Given the description of an element on the screen output the (x, y) to click on. 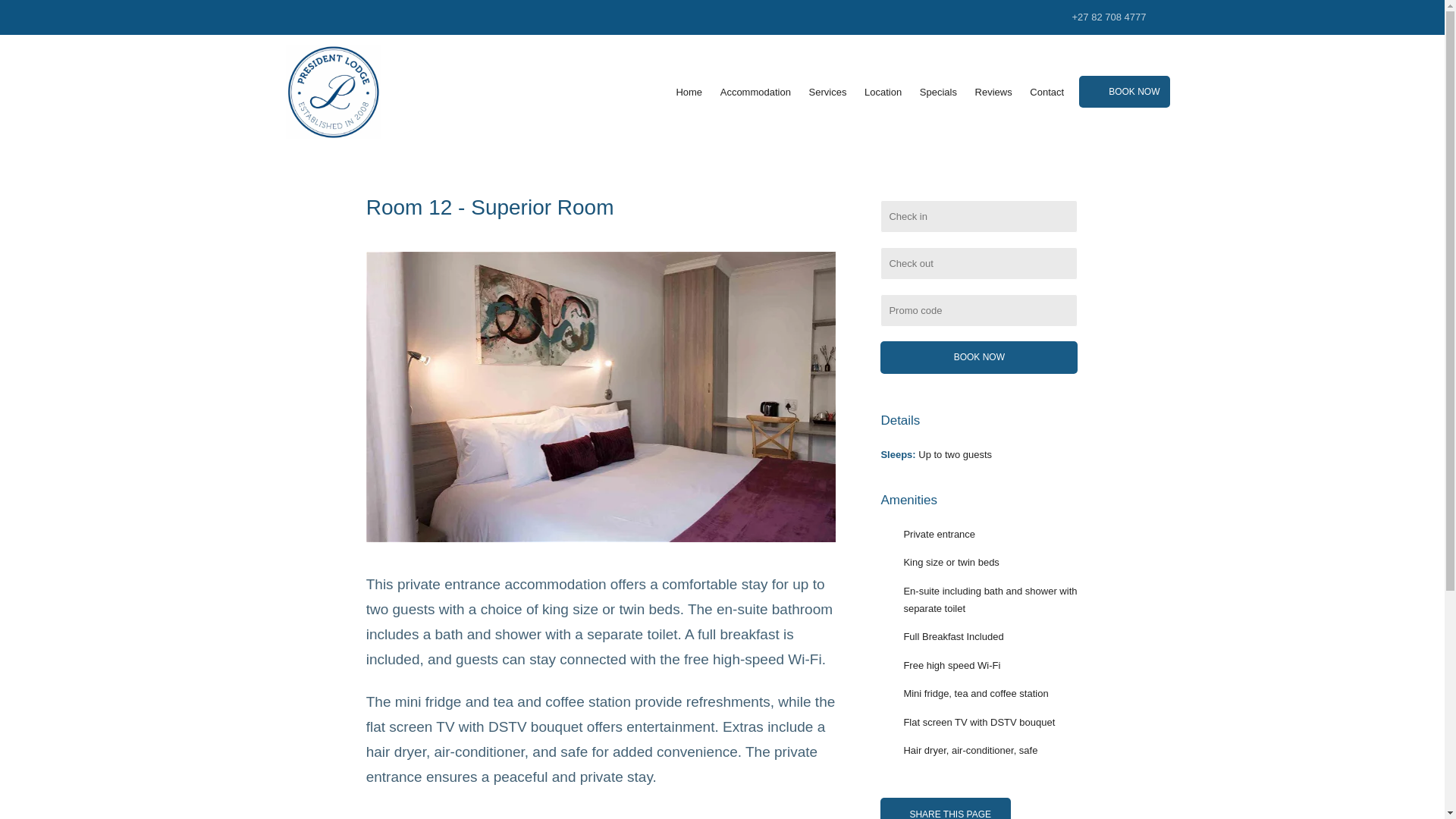
Location (882, 91)
Reviews (994, 91)
Accommodation (755, 91)
President Lodge (332, 91)
Book Now (978, 357)
Contact (1046, 91)
Home (689, 91)
Specials (937, 91)
SHARE THIS PAGE (945, 808)
Book Now (978, 357)
Services (828, 91)
BOOK NOW (1123, 91)
